Given the description of an element on the screen output the (x, y) to click on. 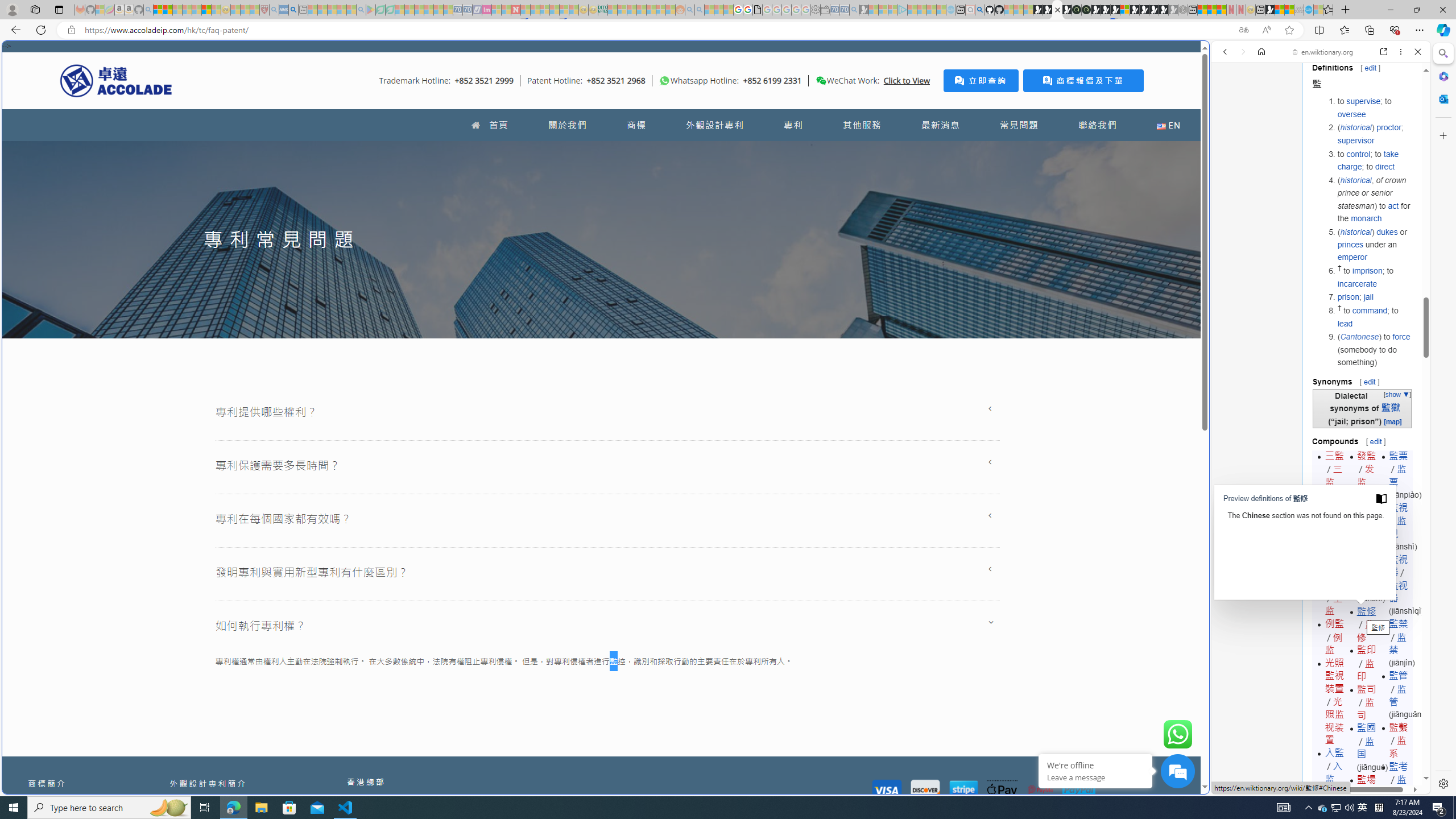
oversee (1350, 113)
Search Filter, VIDEOS (1300, 129)
Expert Portfolios - Sleeping (640, 9)
Forward (1242, 51)
jail (1367, 297)
